Given the description of an element on the screen output the (x, y) to click on. 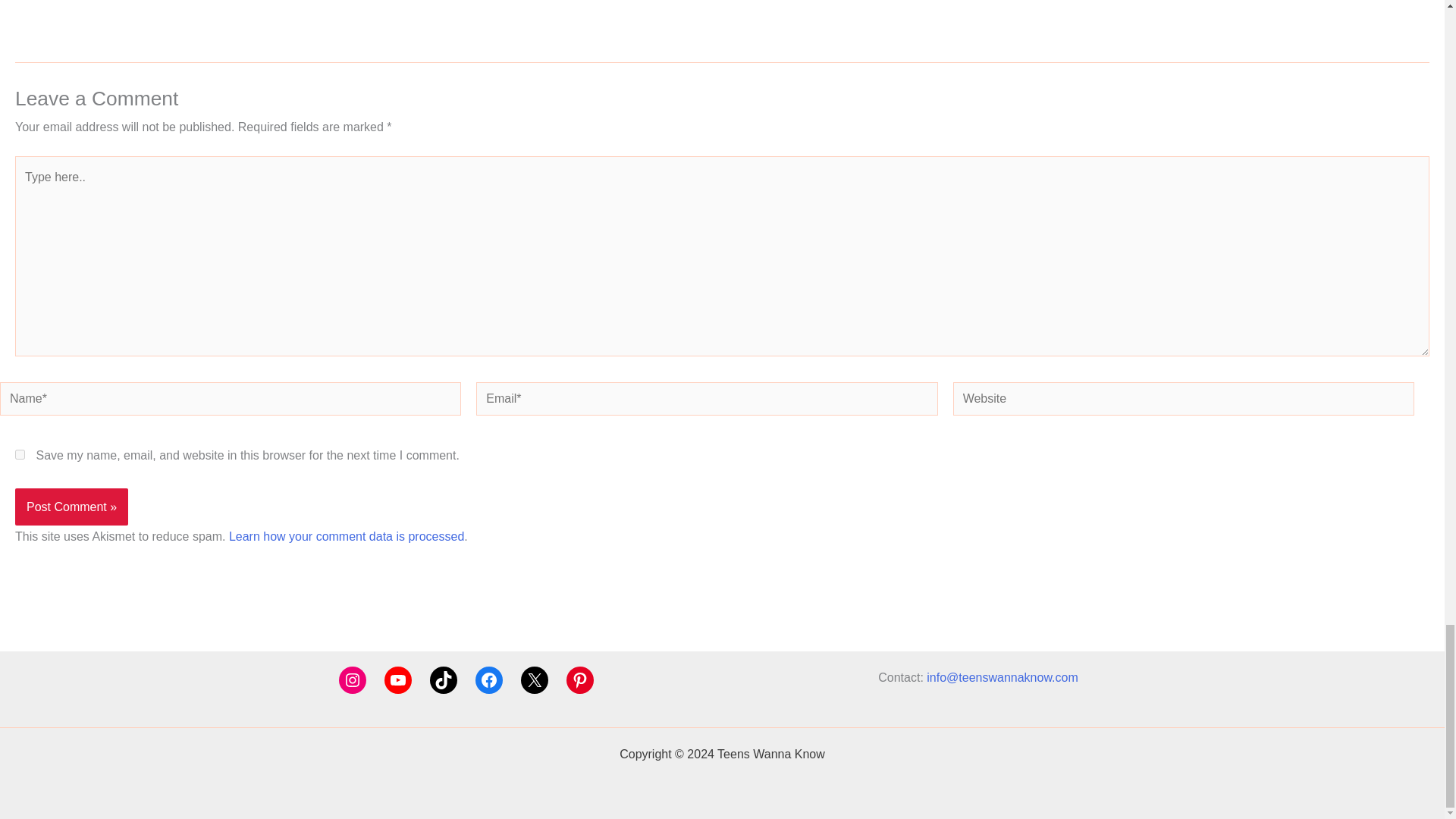
yes (19, 454)
